Given the description of an element on the screen output the (x, y) to click on. 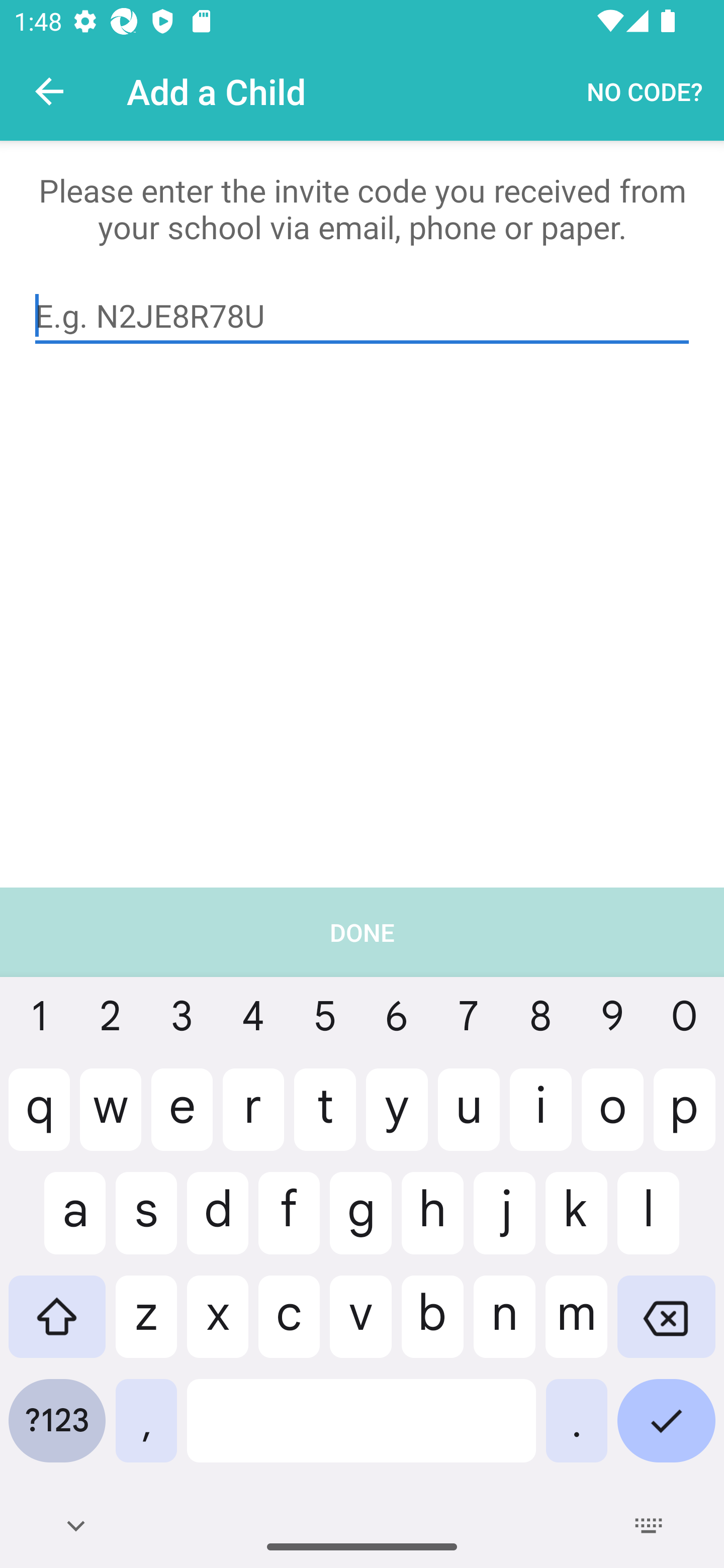
Navigate up (49, 91)
NO CODE? (644, 90)
E.g. N2JE8R78U (361, 315)
DONE (362, 1227)
